Given the description of an element on the screen output the (x, y) to click on. 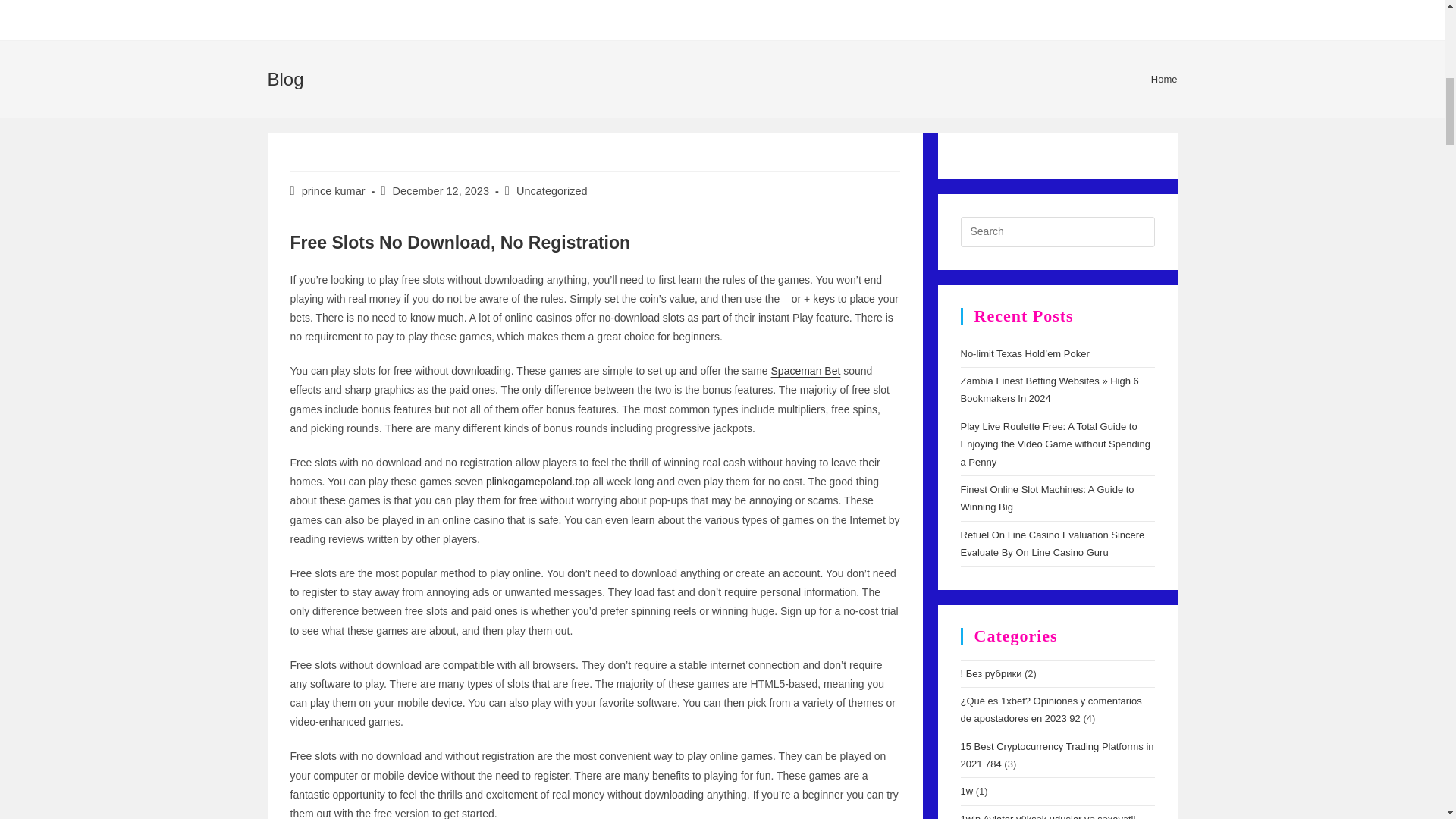
Spaceman Bet (806, 370)
plinkogamepoland.top (537, 481)
1w (965, 790)
Finest Online Slot Machines: A Guide to Winning Big (1046, 498)
Posts by prince kumar (333, 191)
Uncategorized (552, 191)
Home (1164, 79)
15 Best Cryptocurrency Trading Platforms in 2021 784 (1056, 755)
prince kumar (333, 191)
